Given the description of an element on the screen output the (x, y) to click on. 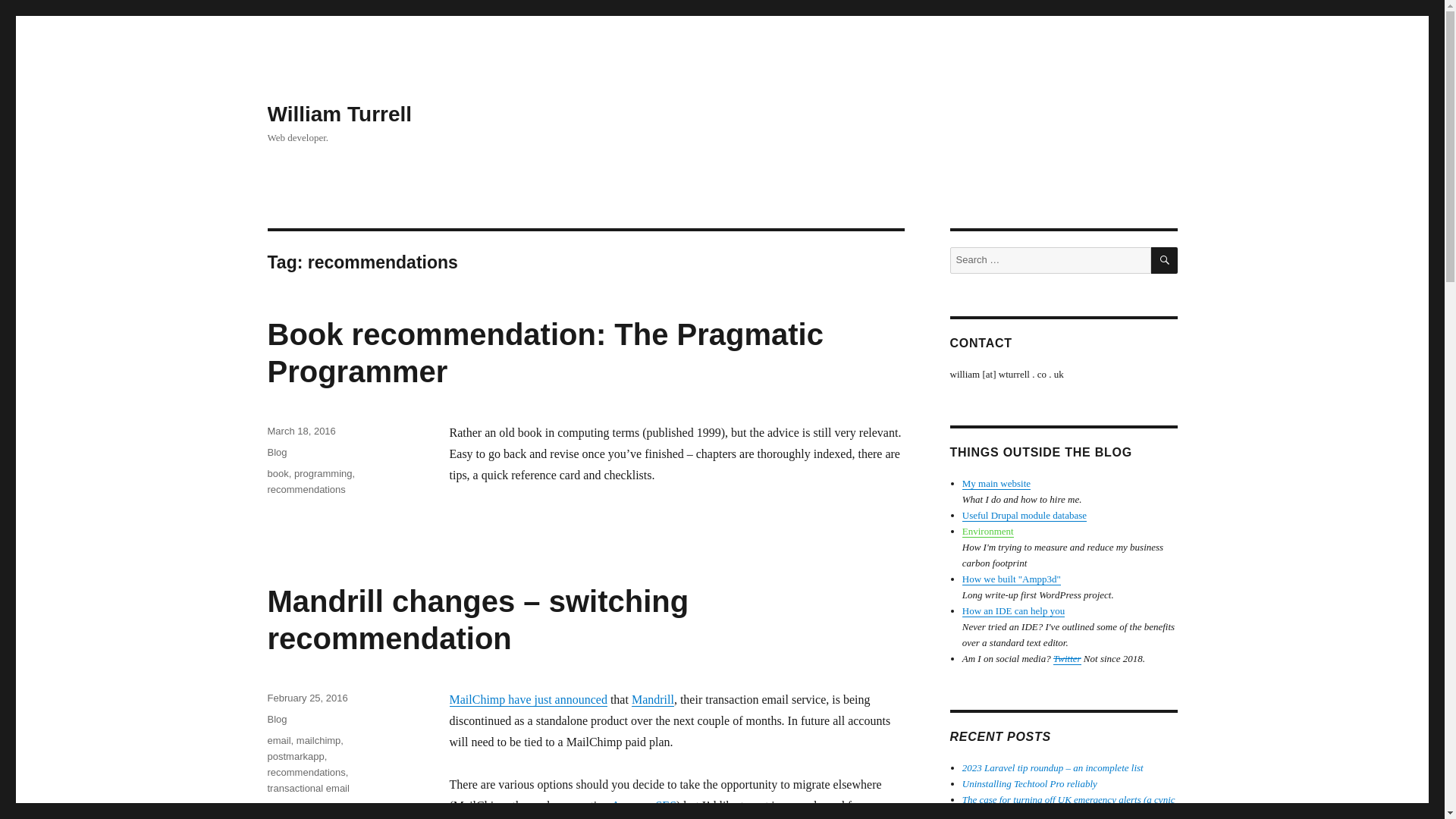
March 18, 2016 (300, 430)
postmarkapp (294, 756)
Blog (276, 718)
email (277, 740)
Mandrill (652, 698)
SEARCH (1164, 260)
Uninstalling Techtool Pro reliably (1029, 783)
How an IDE can help you (1013, 610)
MailChimp have just announced (527, 698)
Amazon SES (644, 805)
